Given the description of an element on the screen output the (x, y) to click on. 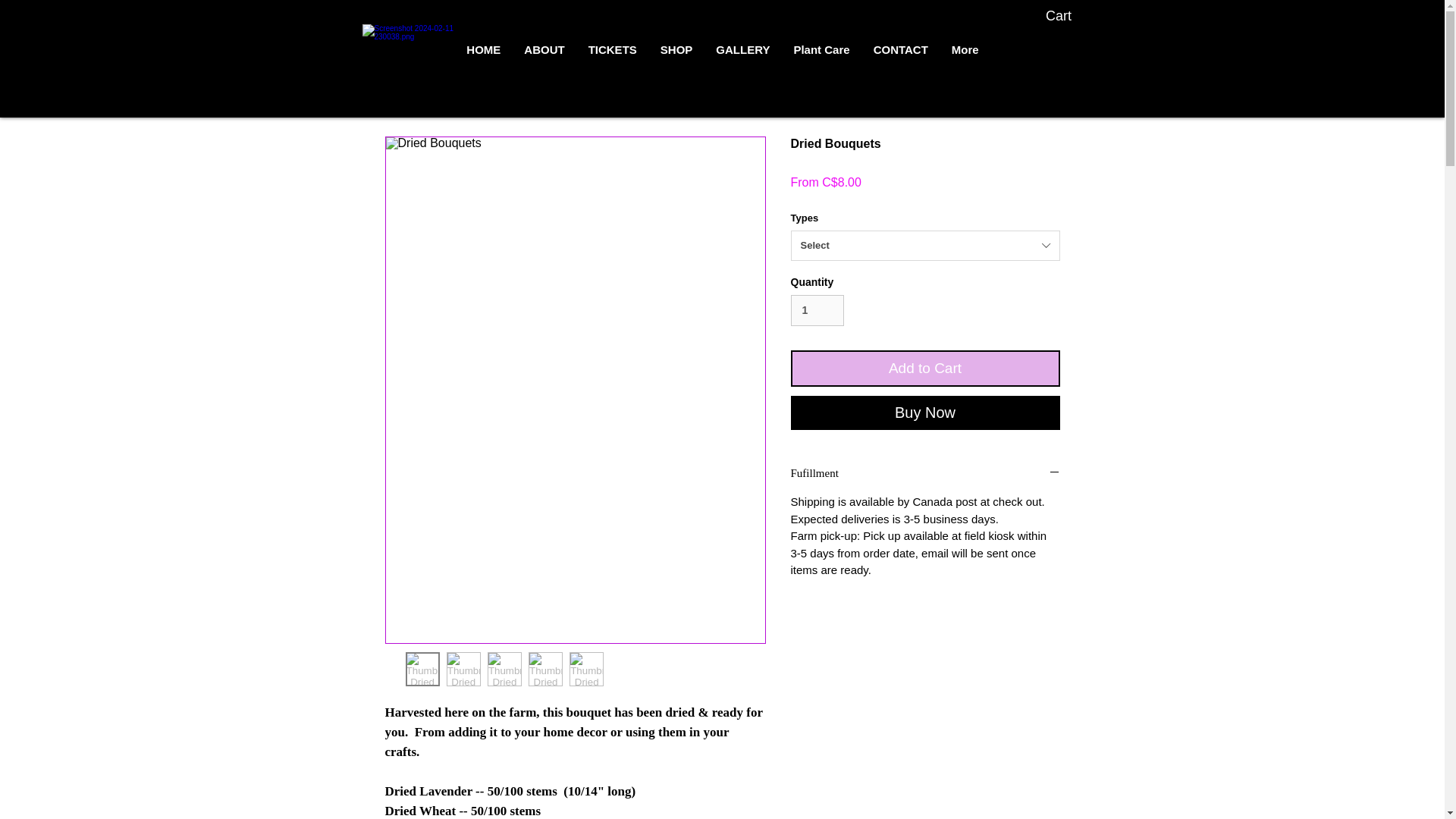
CONTACT (900, 54)
Add to Cart (924, 368)
Plant Care (820, 54)
GALLERY (741, 54)
Select (924, 245)
ABOUT (543, 54)
Cart (1069, 15)
TICKETS (611, 54)
SHOP (675, 54)
1 (817, 309)
